Given the description of an element on the screen output the (x, y) to click on. 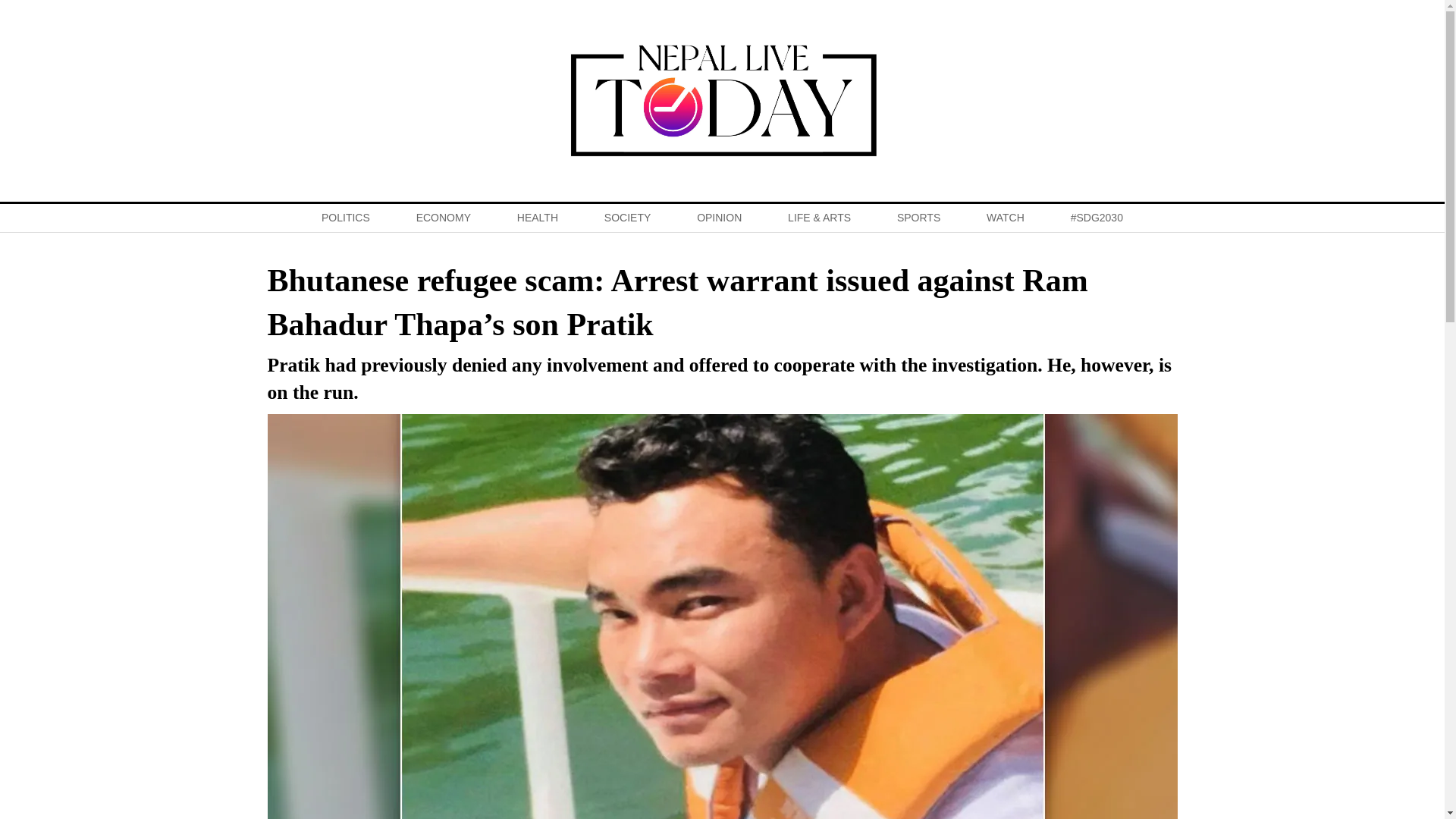
POLITICS (345, 217)
SPORTS (918, 217)
HEALTH (537, 217)
WATCH (1005, 217)
ECONOMY (443, 217)
OPINION (718, 217)
SOCIETY (627, 217)
